Given the description of an element on the screen output the (x, y) to click on. 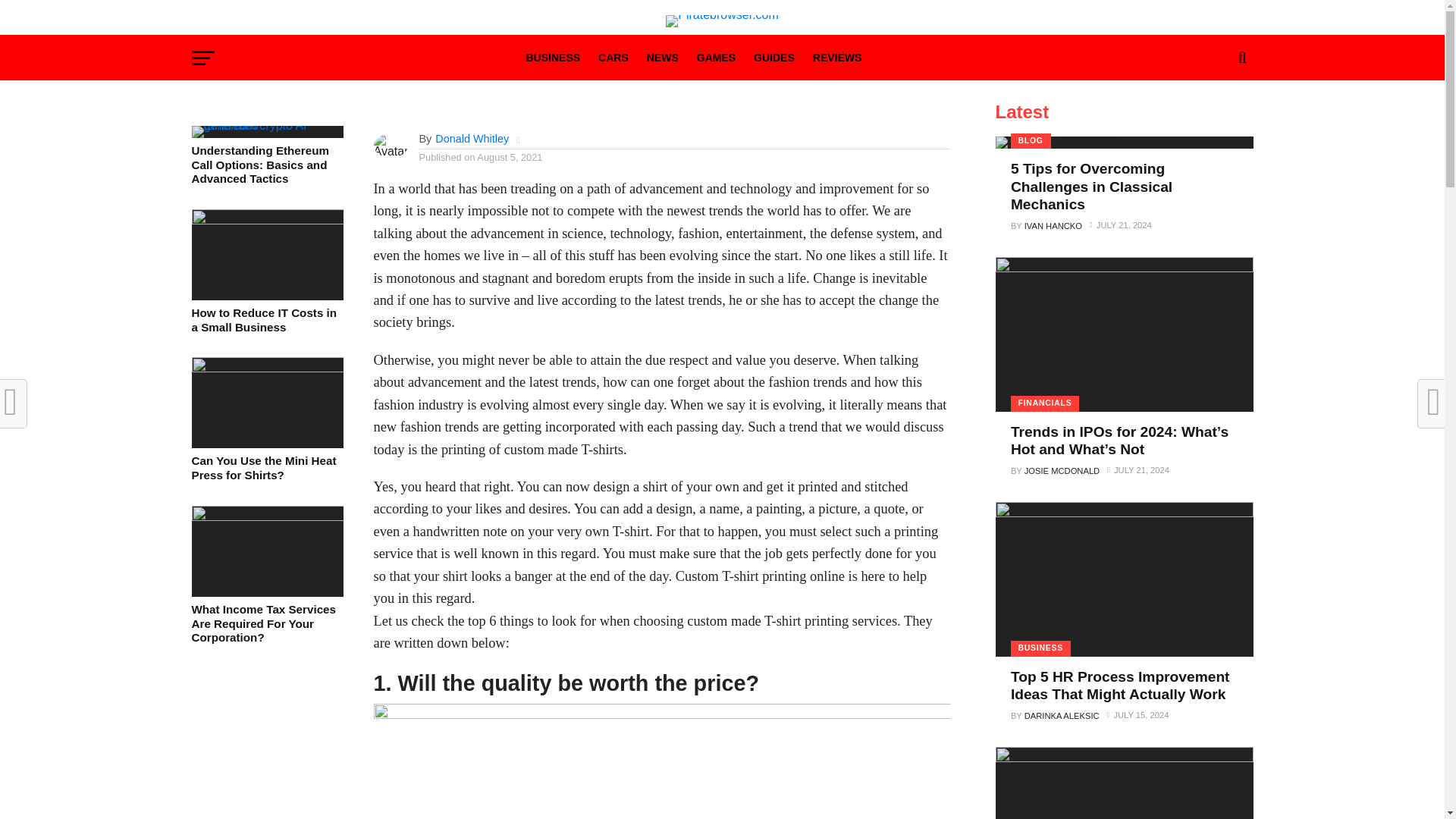
REVIEWS (836, 58)
Can You Use the Mini Heat Press for Shirts? (266, 367)
NEWS (662, 58)
What Income Tax Services Are Required For Your Corporation? (266, 623)
How to Reduce IT Costs in a Small Business (266, 320)
CARS (613, 58)
Posts by Ivan Hancko (1053, 225)
Posts by Donald Whitley (471, 138)
BUSINESS (552, 58)
What Income Tax Services Are Required For Your Corporation? (266, 516)
GAMES (715, 58)
Can You Use the Mini Heat Press for Shirts? (266, 468)
Posts by Josie McDonald (1062, 470)
GUIDES (773, 58)
